Given the description of an element on the screen output the (x, y) to click on. 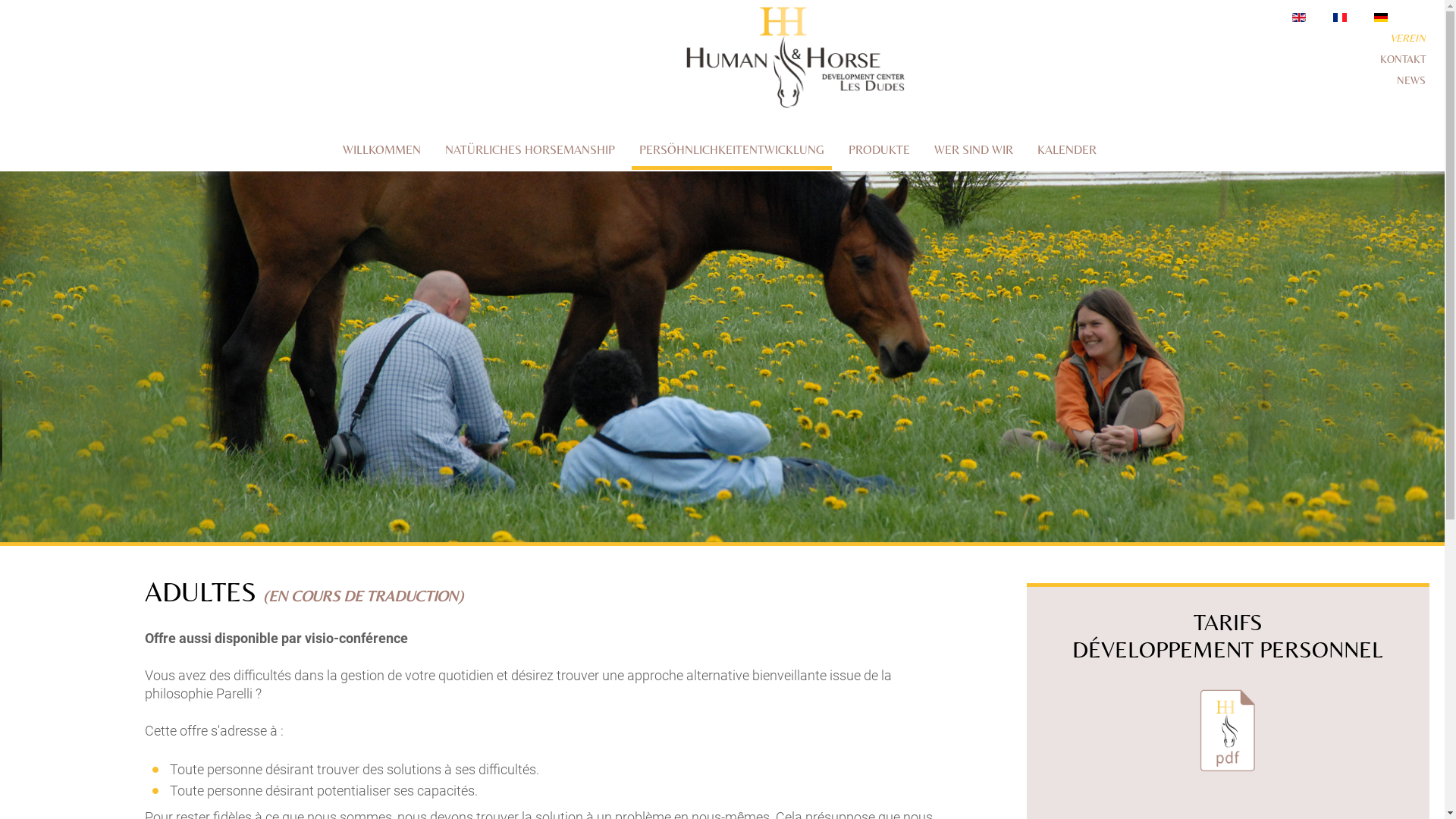
WER SIND WIR Element type: text (973, 151)
VEREIN Element type: text (1407, 37)
NEWS Element type: text (1411, 80)
WILLKOMMEN Element type: text (381, 151)
English (United Kingdom) Element type: hover (1298, 16)
KALENDER Element type: text (1066, 151)
Deutsch (Deutschland) Element type: hover (1380, 16)
PRODUKTE Element type: text (878, 151)
KONTAKT Element type: text (1402, 58)
